Given the description of an element on the screen output the (x, y) to click on. 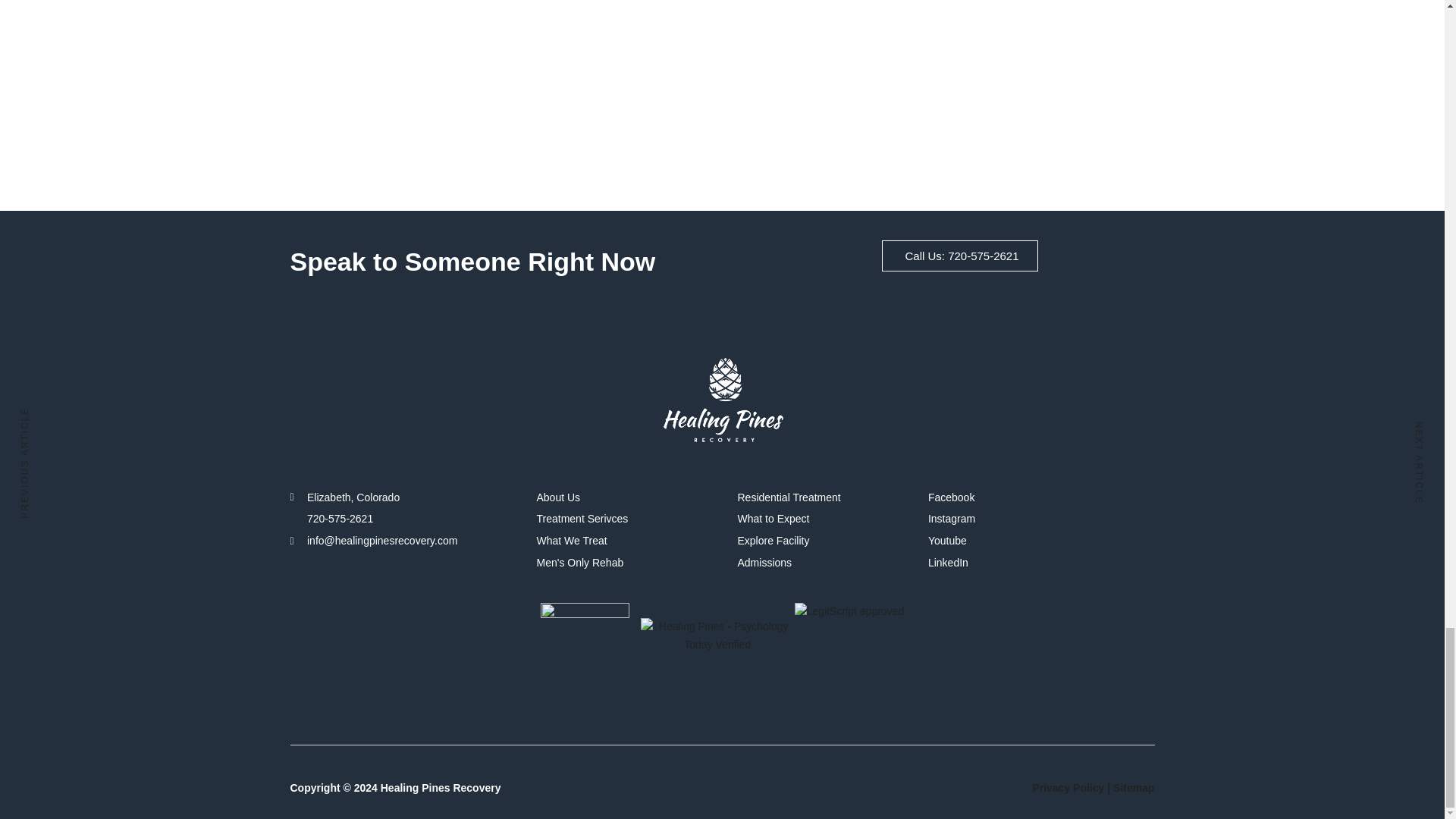
Verify LegitScript Approval (849, 611)
